Given the description of an element on the screen output the (x, y) to click on. 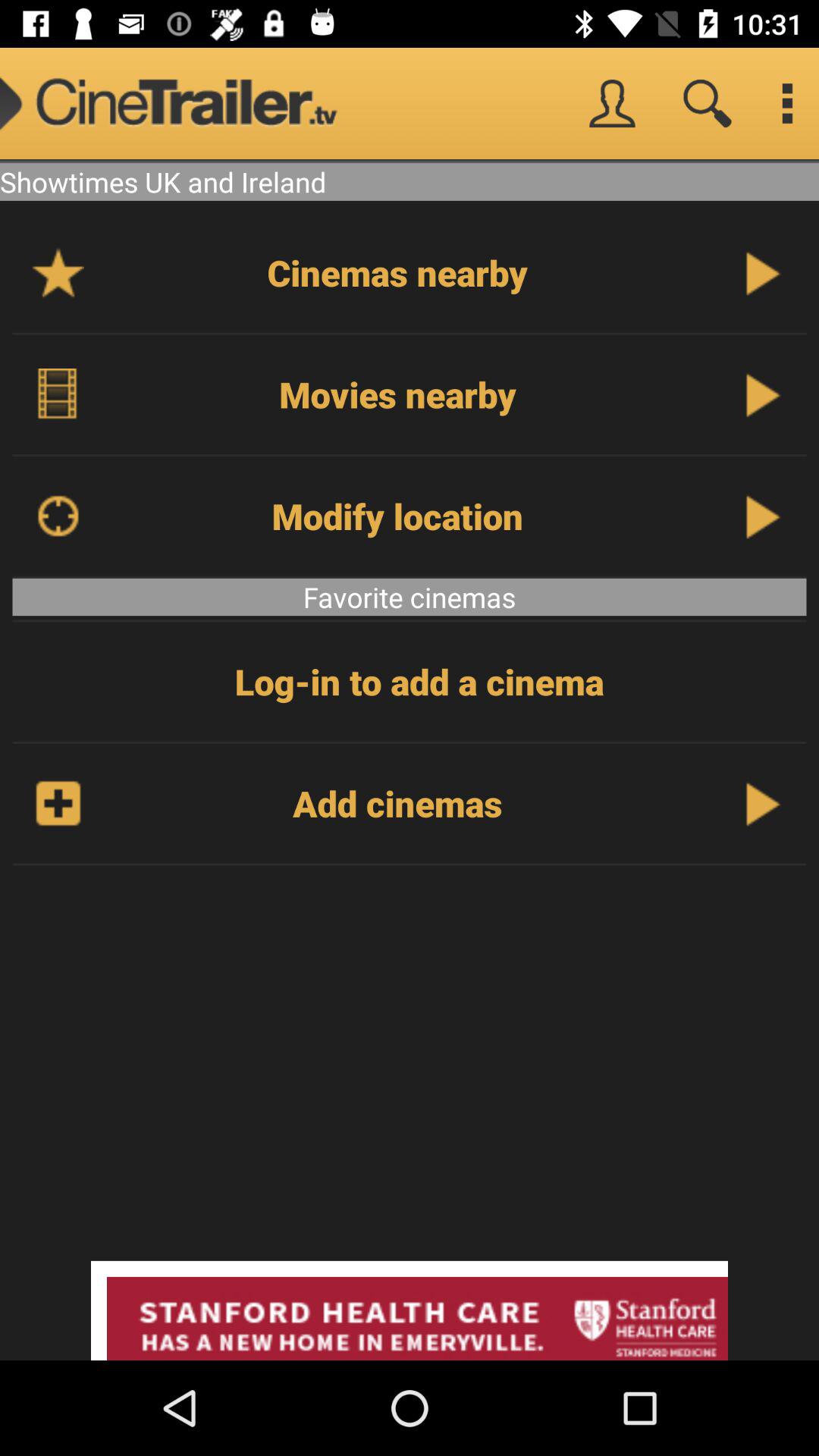
settings (787, 103)
